Given the description of an element on the screen output the (x, y) to click on. 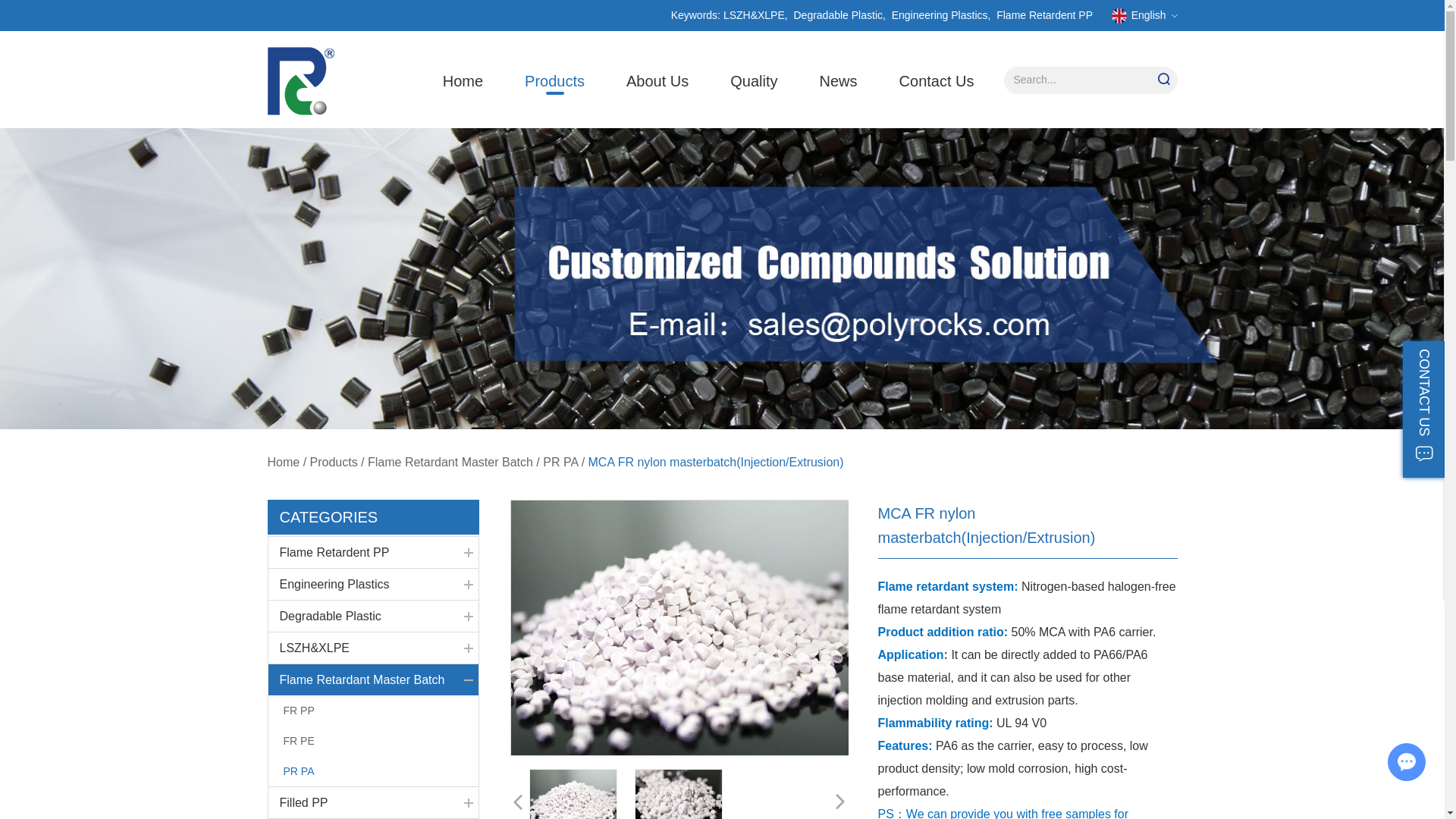
English (1144, 15)
